Given the description of an element on the screen output the (x, y) to click on. 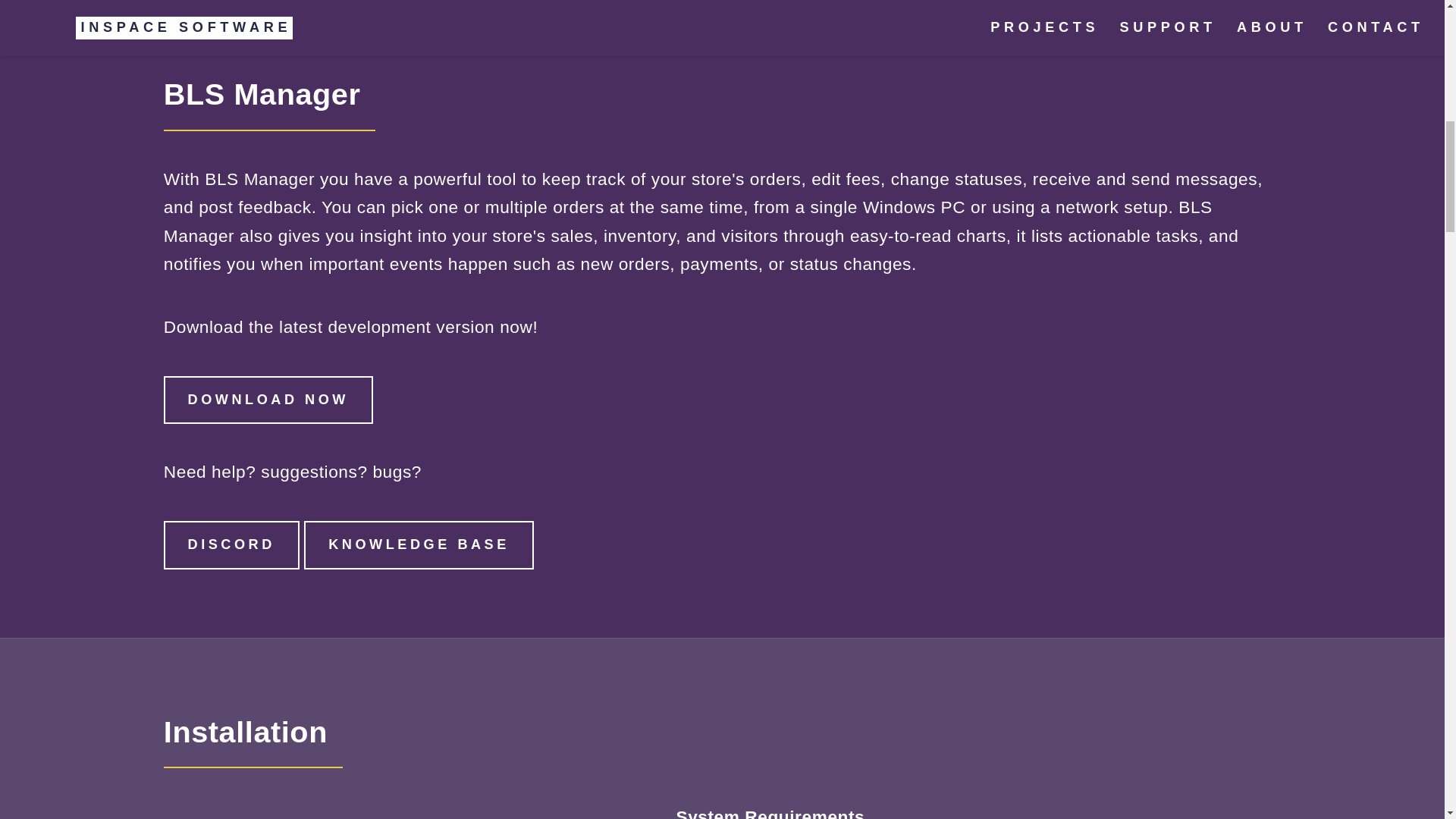
DISCORD (231, 544)
DOWNLOAD NOW (267, 399)
KNOWLEDGE BASE (418, 544)
